Given the description of an element on the screen output the (x, y) to click on. 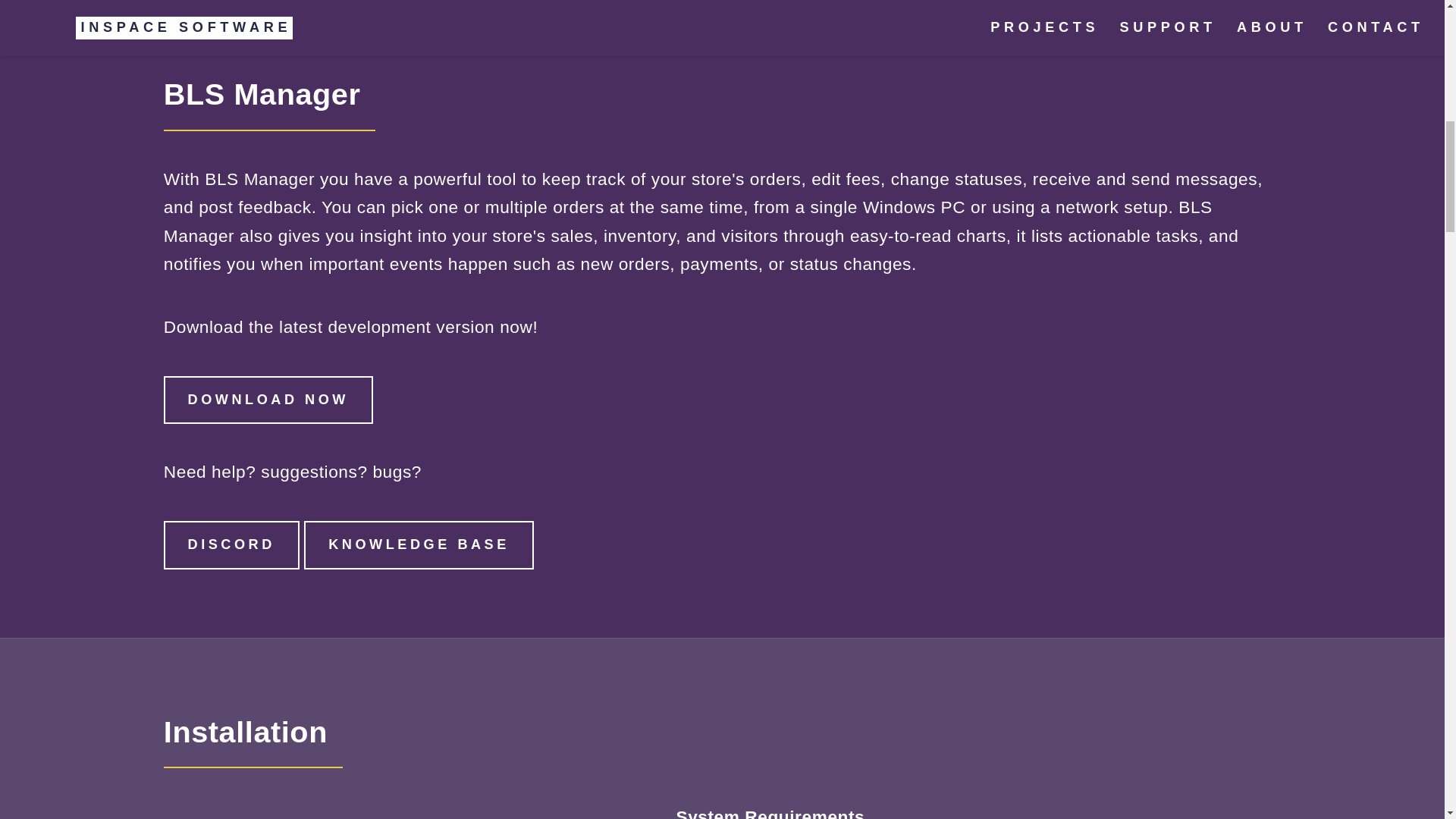
DISCORD (231, 544)
DOWNLOAD NOW (267, 399)
KNOWLEDGE BASE (418, 544)
